Given the description of an element on the screen output the (x, y) to click on. 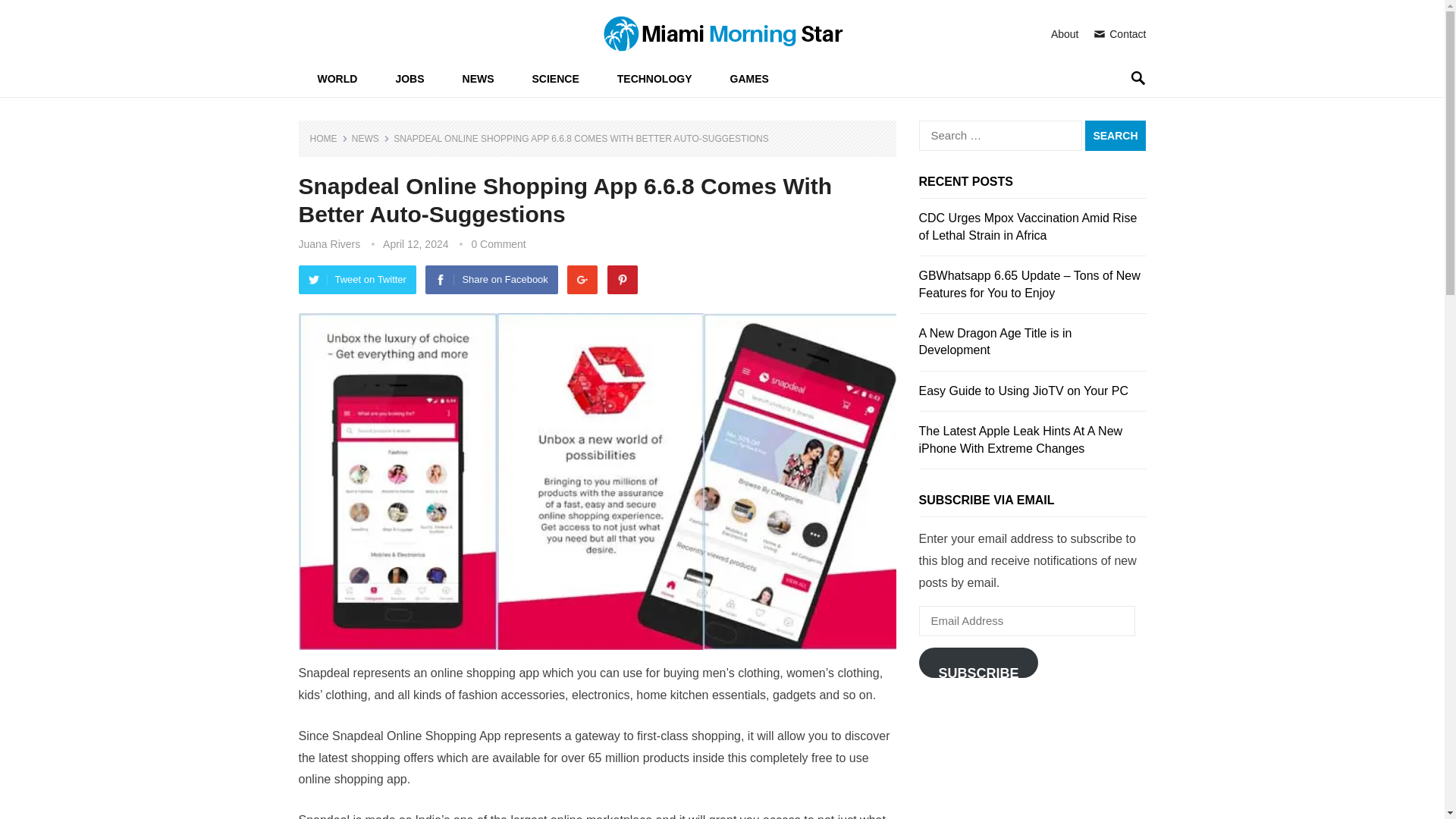
Search (1114, 135)
About (1064, 33)
Contact (1119, 33)
NEWS (478, 78)
HOME (327, 138)
NEWS (371, 138)
Pinterest (622, 279)
Share on Facebook (491, 279)
JOBS (408, 78)
GAMES (749, 78)
0 Comment (497, 244)
View all posts in News (371, 138)
Search (1114, 135)
Tweet on Twitter (357, 279)
TECHNOLOGY (654, 78)
